Given the description of an element on the screen output the (x, y) to click on. 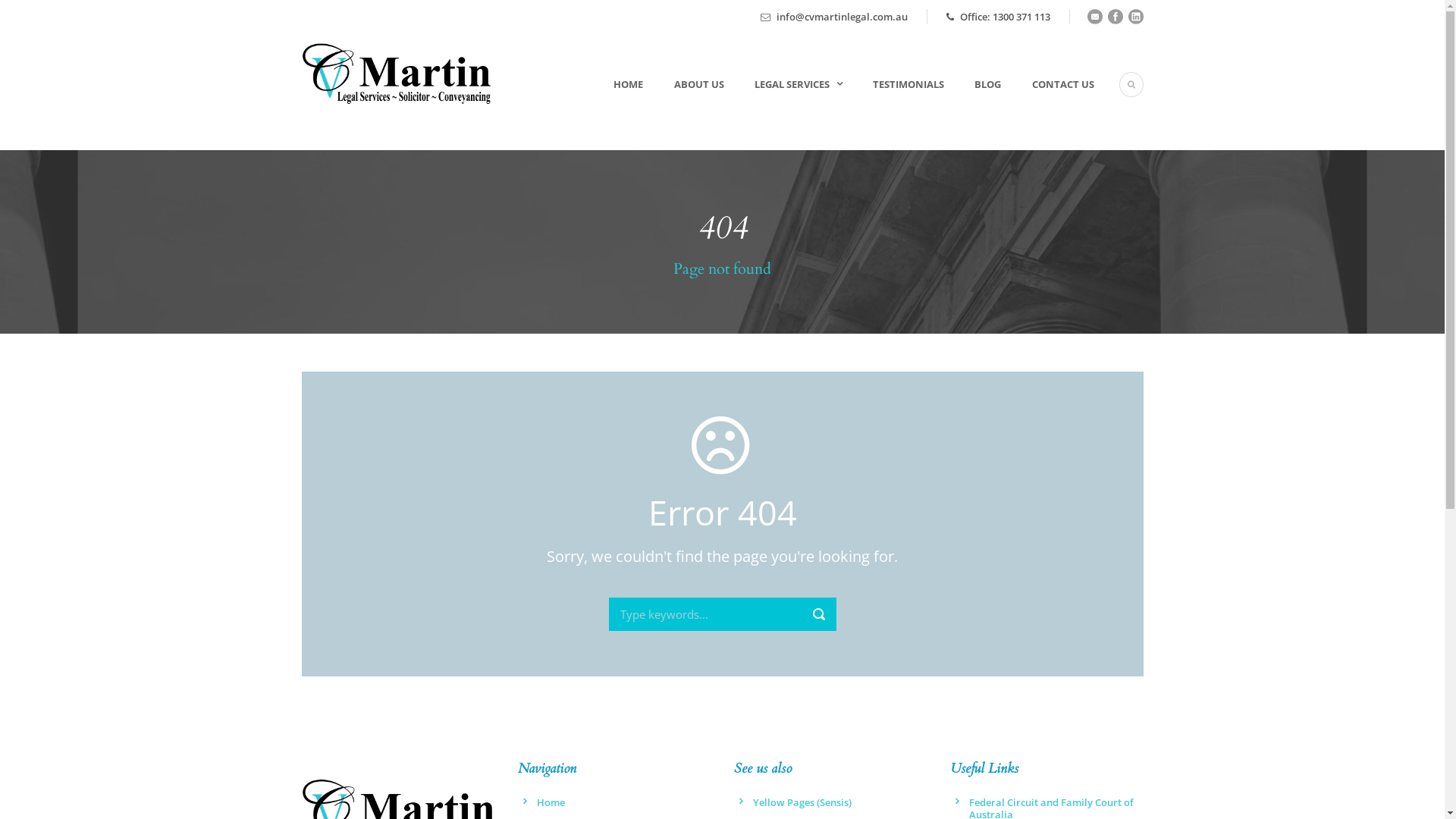
LEGAL SERVICES Element type: text (783, 102)
BLOG Element type: text (972, 102)
Office: 1300 371 113 Element type: text (998, 16)
CONTACT US Element type: text (1047, 102)
Yellow Pages (Sensis) Element type: text (801, 802)
Home Element type: text (550, 802)
TESTIMONIALS Element type: text (893, 102)
info@cvmartinlegal.com.au Element type: text (841, 16)
ABOUT US Element type: text (683, 102)
HOME Element type: text (623, 102)
